Given the description of an element on the screen output the (x, y) to click on. 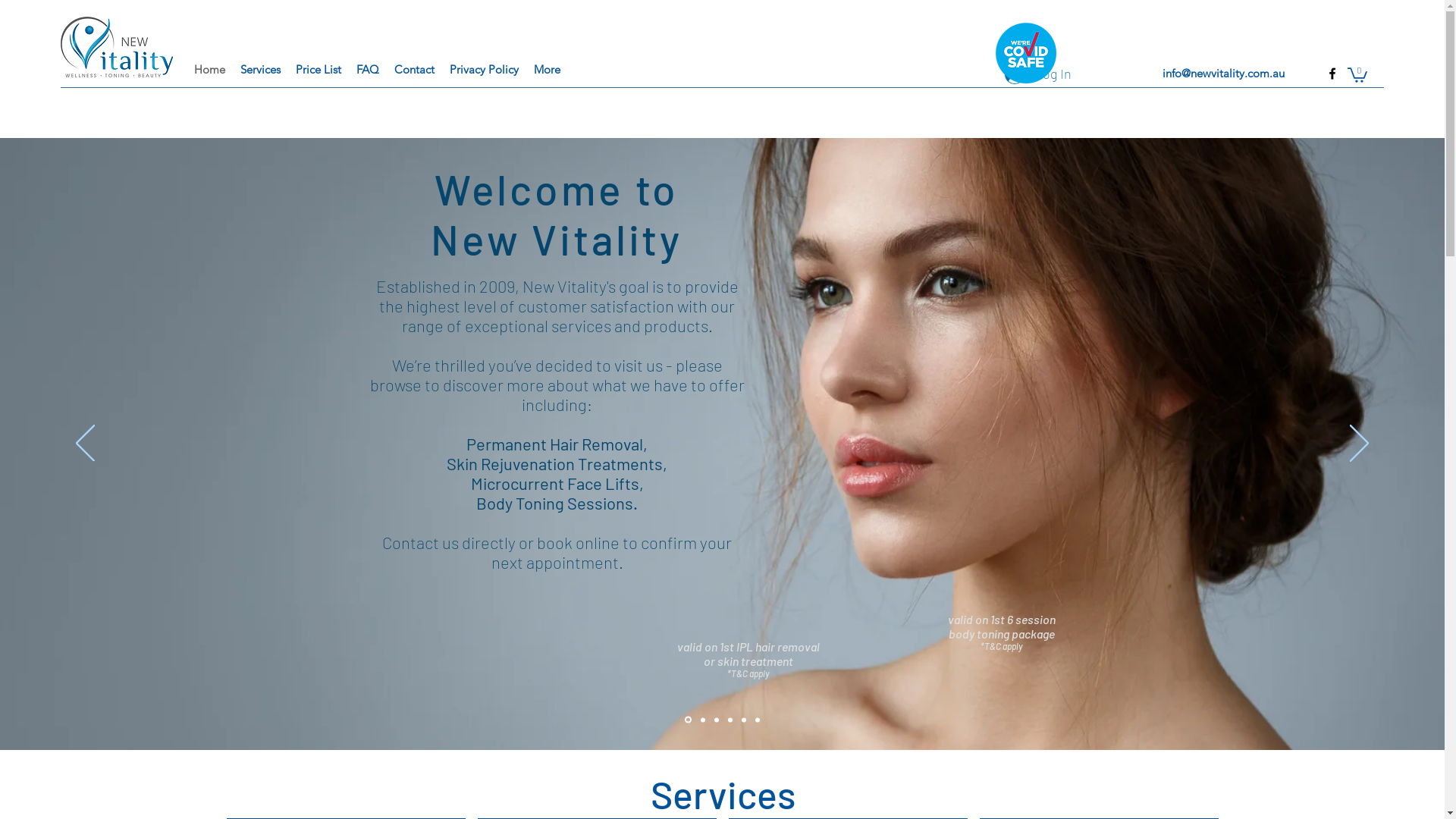
0 Element type: text (1357, 73)
Privacy Policy Element type: text (484, 69)
Home Element type: text (209, 69)
Contact Element type: text (414, 69)
Services Element type: text (260, 69)
Price List Element type: text (318, 69)
FAQ Element type: text (367, 69)
Log In Element type: text (1038, 74)
info@newvitality.com.au Element type: text (1223, 72)
